Given the description of an element on the screen output the (x, y) to click on. 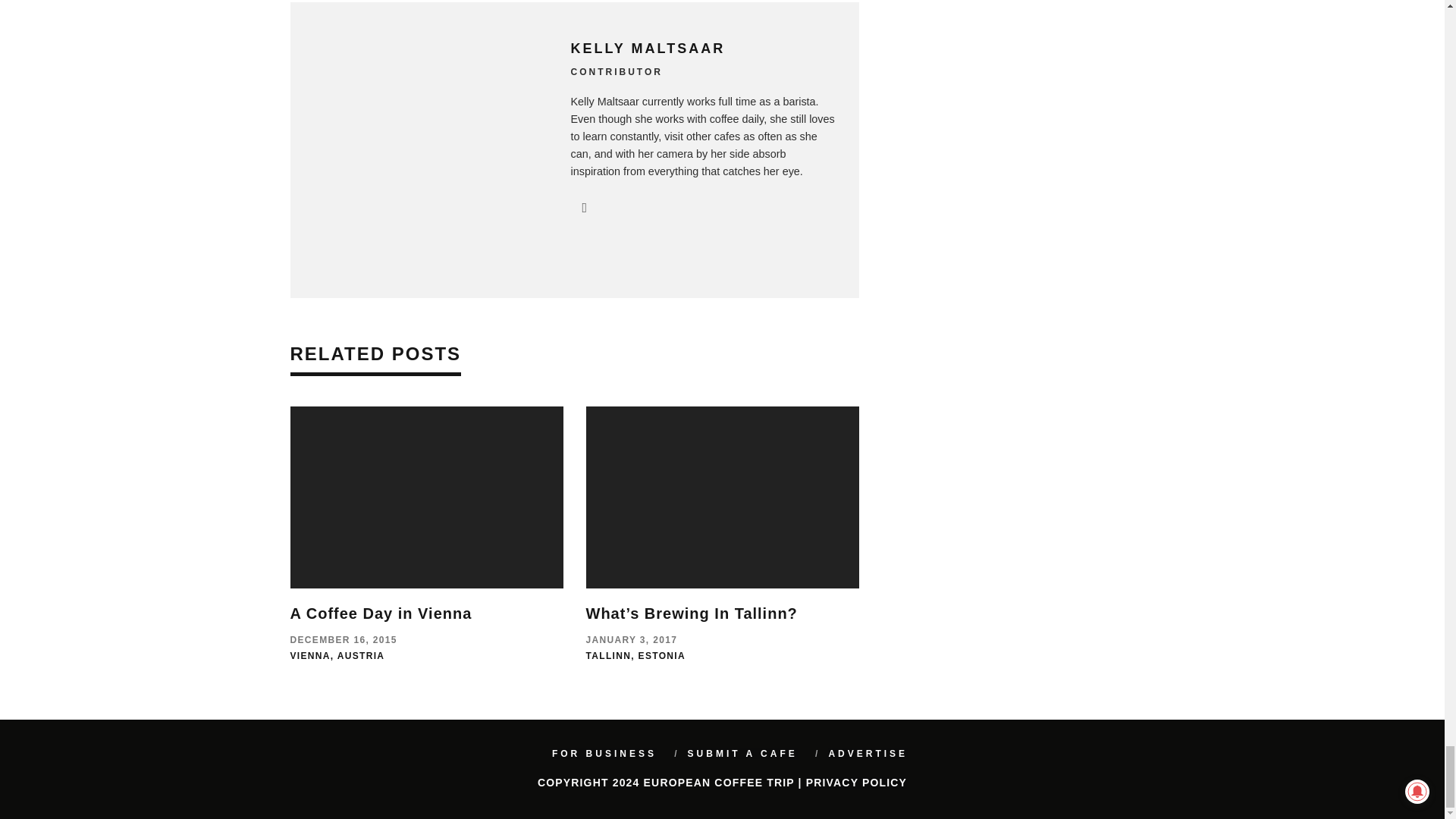
KELLY MALTSAAR (647, 48)
A Coffee Day in Vienna (380, 613)
AUSTRIA (361, 655)
VIENNA (309, 655)
